Given the description of an element on the screen output the (x, y) to click on. 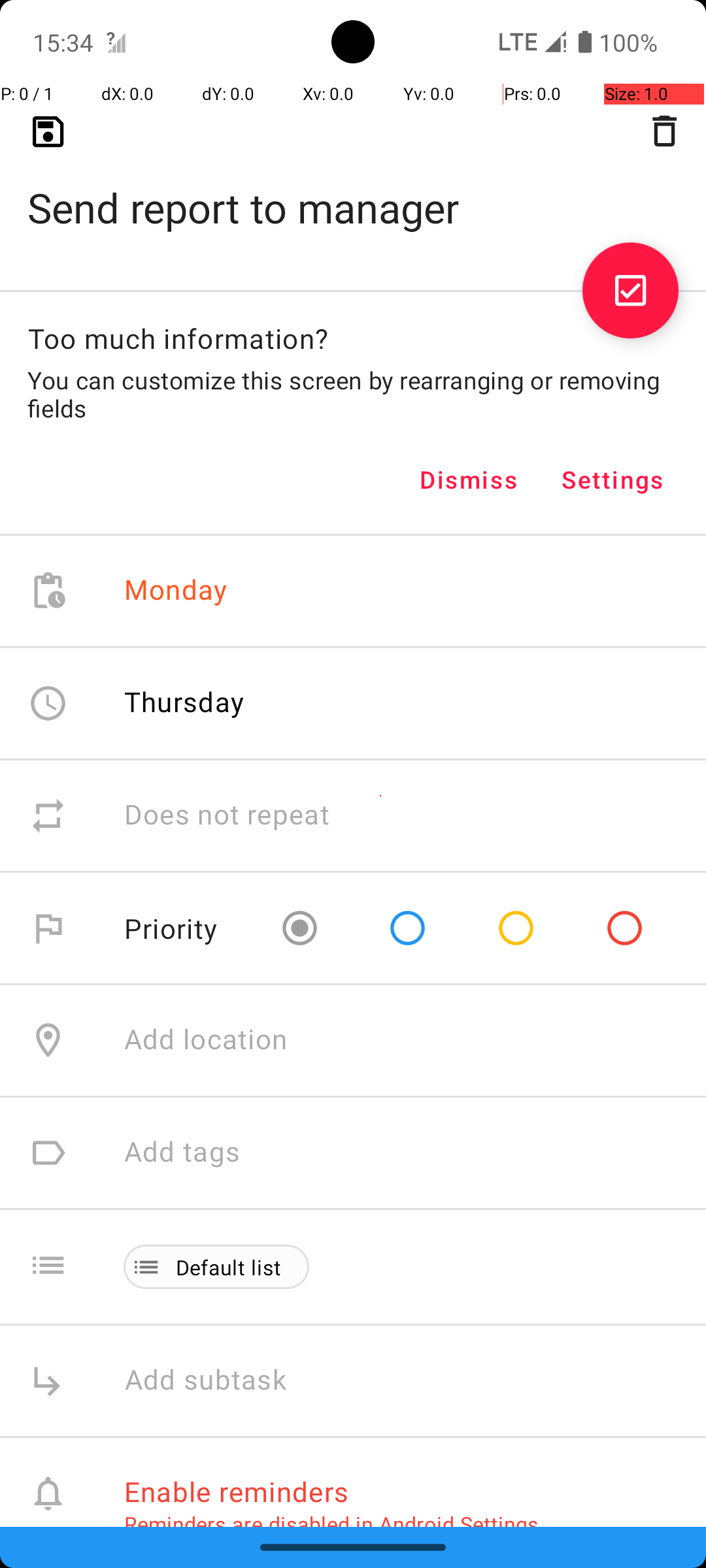
Send report to manager Element type: android.widget.EditText (353, 186)
